Given the description of an element on the screen output the (x, y) to click on. 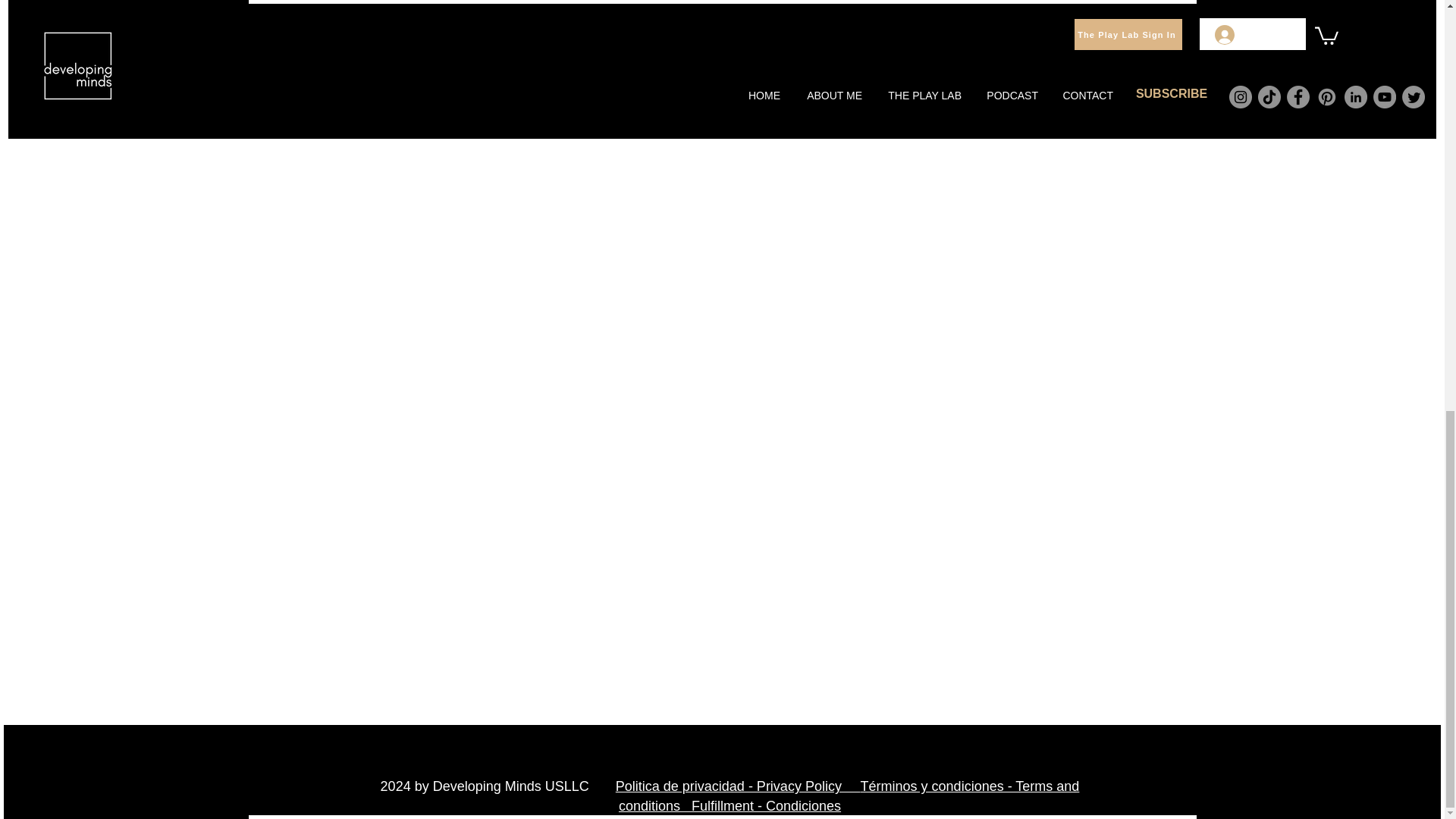
Politica de privacidad - Privacy Policy      (737, 785)
Fulfillment - Condiciones (766, 806)
